Given the description of an element on the screen output the (x, y) to click on. 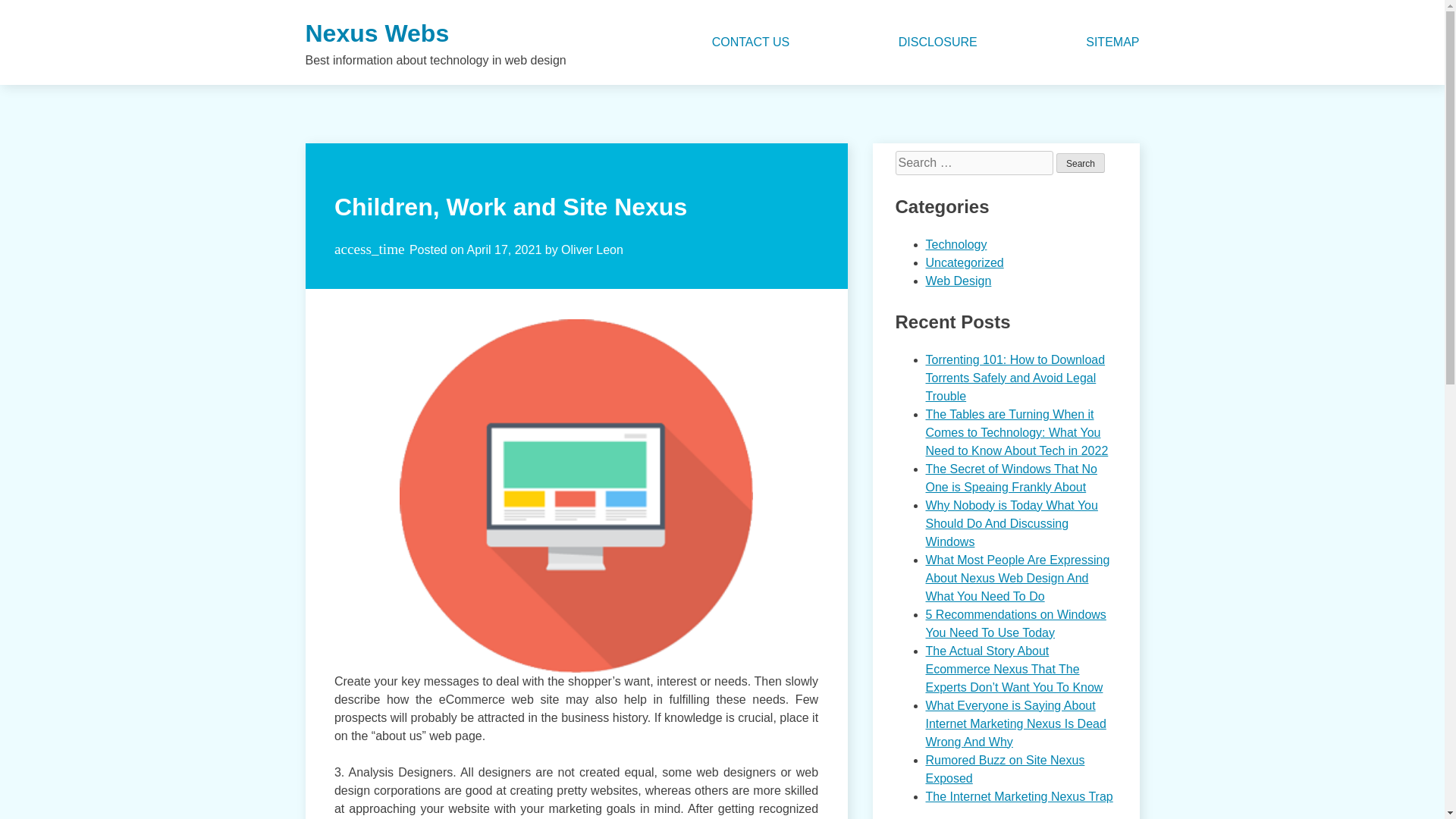
The Secret of Windows That No One is Speaing Frankly About (1010, 477)
Web Design (957, 280)
Search (1081, 162)
Nexus Webs (376, 32)
SITEMAP (1112, 42)
Rumored Buzz on Site Nexus Exposed (1004, 768)
CONTACT US (750, 42)
Search (1081, 162)
April 17, 2021 (504, 249)
